Given the description of an element on the screen output the (x, y) to click on. 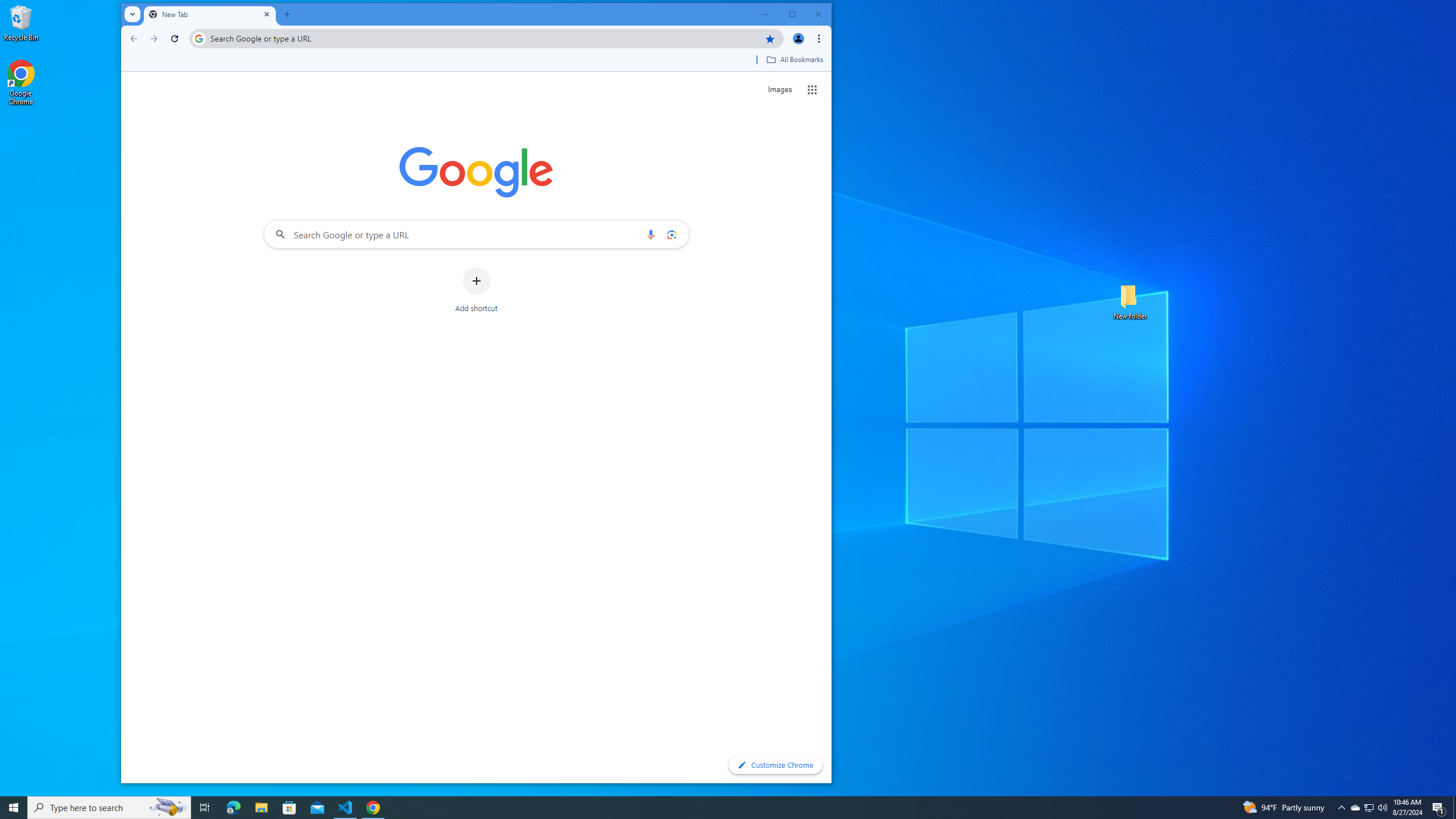
New folder (1130, 301)
Recycle Bin (21, 22)
Google Chrome (21, 82)
